Given the description of an element on the screen output the (x, y) to click on. 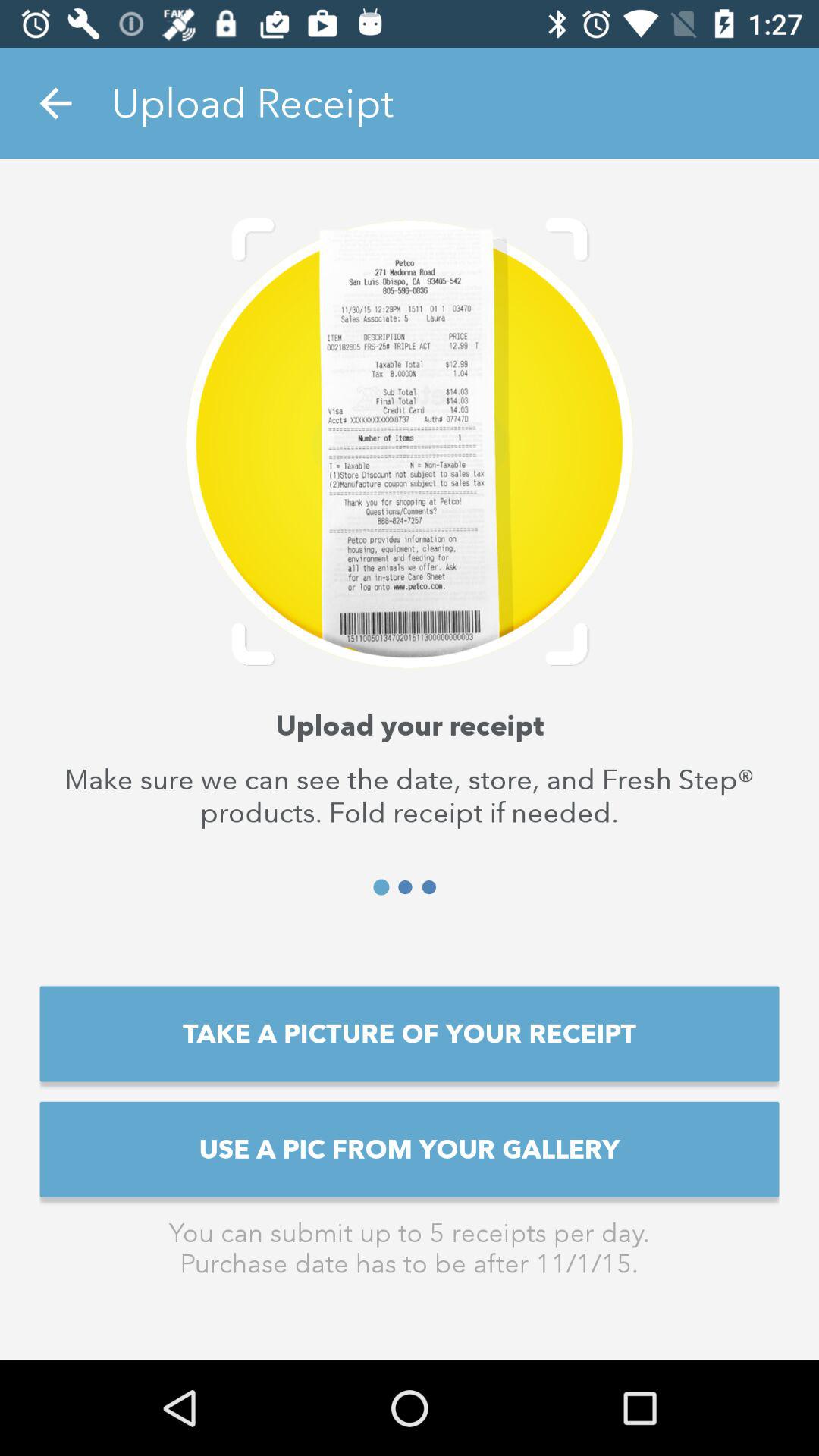
open the icon next to upload receipt (55, 103)
